Given the description of an element on the screen output the (x, y) to click on. 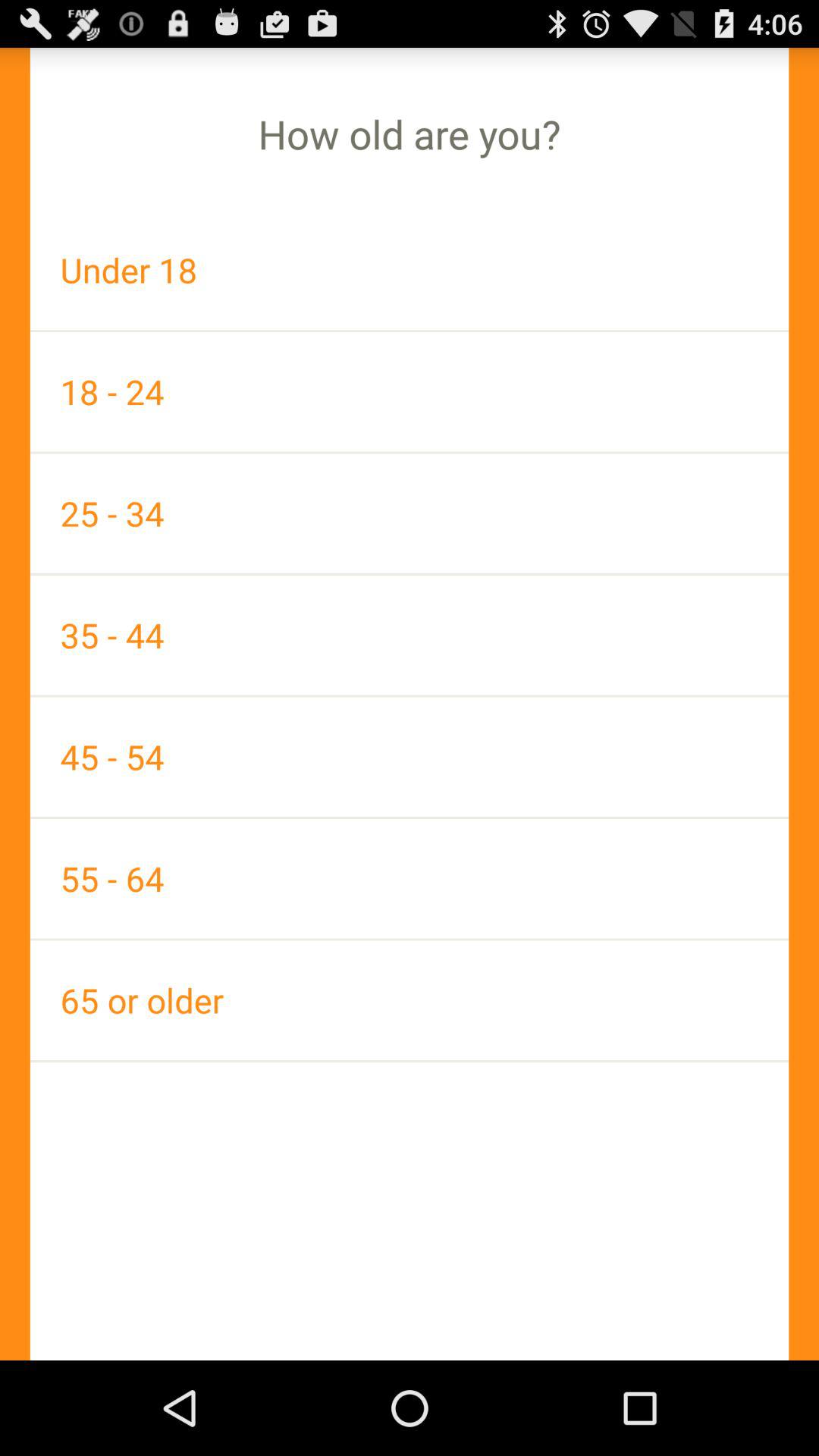
choose the item above the 55 - 64 item (409, 756)
